Given the description of an element on the screen output the (x, y) to click on. 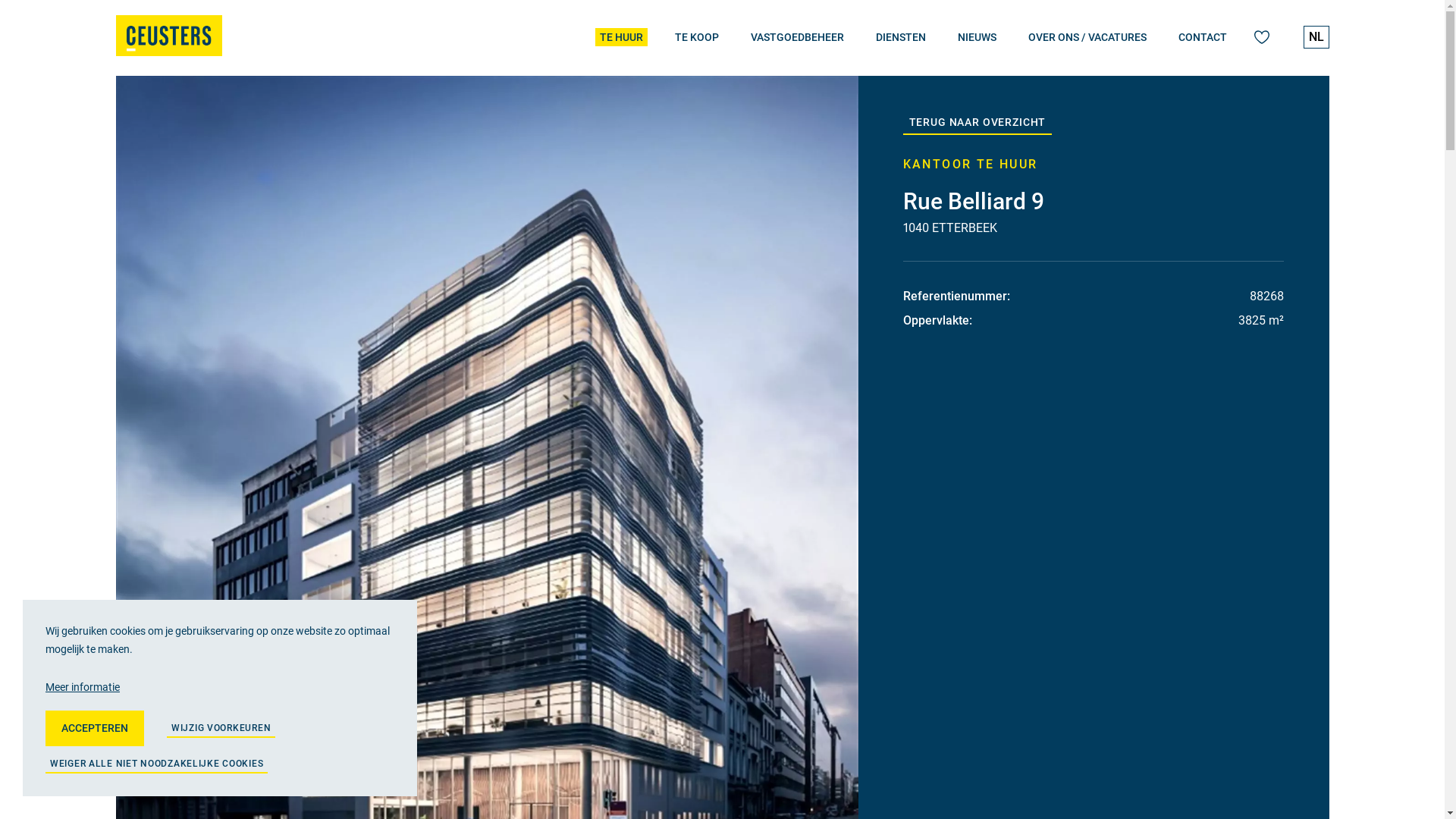
Mijn favorieten Element type: text (1261, 36)
OVER ONS / VACATURES Element type: text (1087, 37)
WIJZIG VOORKEUREN Element type: text (220, 727)
ACCEPTEREN Element type: text (94, 728)
DIENSTEN Element type: text (899, 37)
NIEUWS Element type: text (976, 37)
NL Element type: text (1315, 36)
VASTGOEDBEHEER Element type: text (797, 37)
WEIGER ALLE NIET NOODZAKELIJKE COOKIES Element type: text (156, 763)
TE HUUR Element type: text (620, 37)
Meer informatie Element type: text (219, 686)
TE KOOP Element type: text (696, 37)
TERUG NAAR OVERZICHT Element type: text (976, 121)
CONTACT Element type: text (1202, 37)
